Given the description of an element on the screen output the (x, y) to click on. 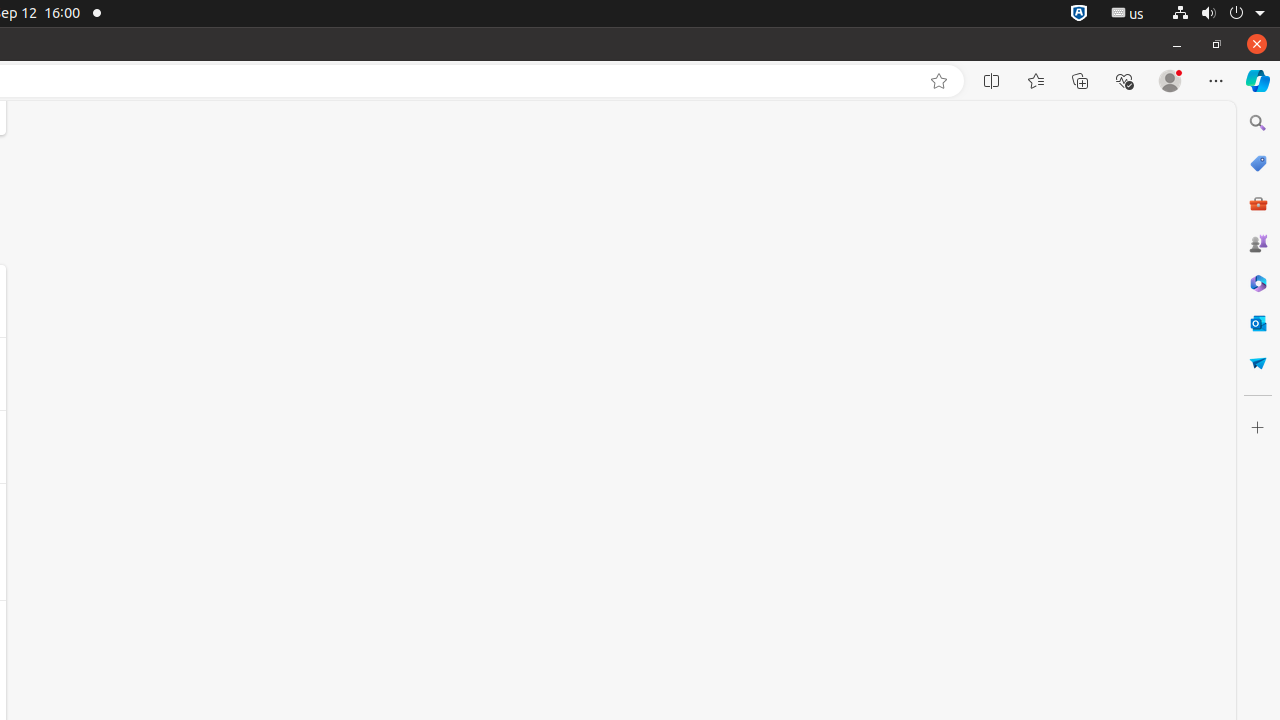
Browser essentials Element type: push-button (1124, 81)
Microsoft 365 Element type: push-button (1258, 283)
:1.21/StatusNotifierItem Element type: menu (1127, 13)
Split screen Element type: push-button (992, 81)
Customize Element type: push-button (1258, 428)
